Given the description of an element on the screen output the (x, y) to click on. 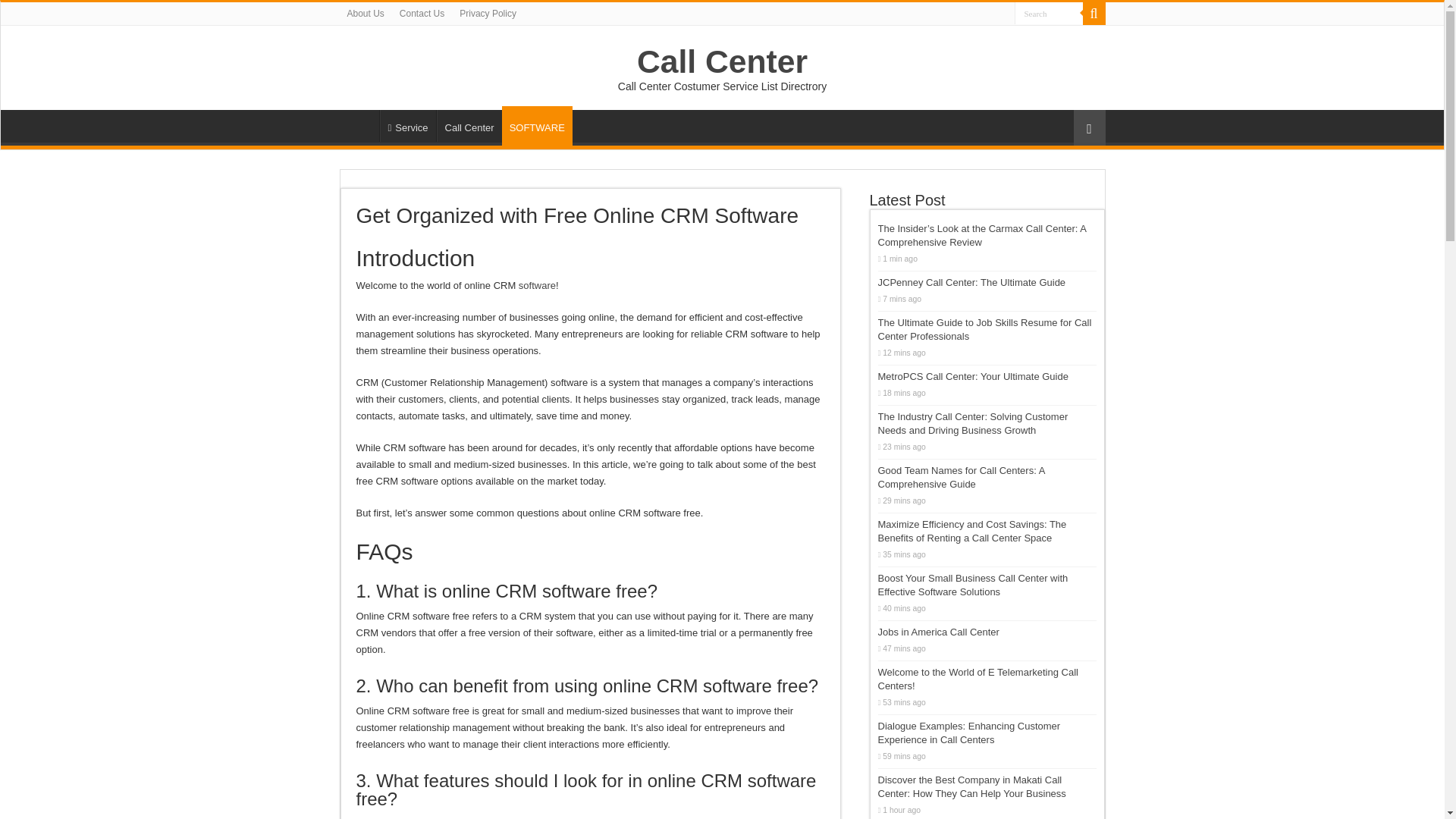
software (537, 285)
Search (1094, 13)
Good Team Names for Call Centers: A Comprehensive Guide (961, 477)
JCPenney Call Center: The Ultimate Guide (971, 282)
Contact Us (421, 13)
Call Center (722, 61)
Jobs in America Call Center (937, 632)
